Given the description of an element on the screen output the (x, y) to click on. 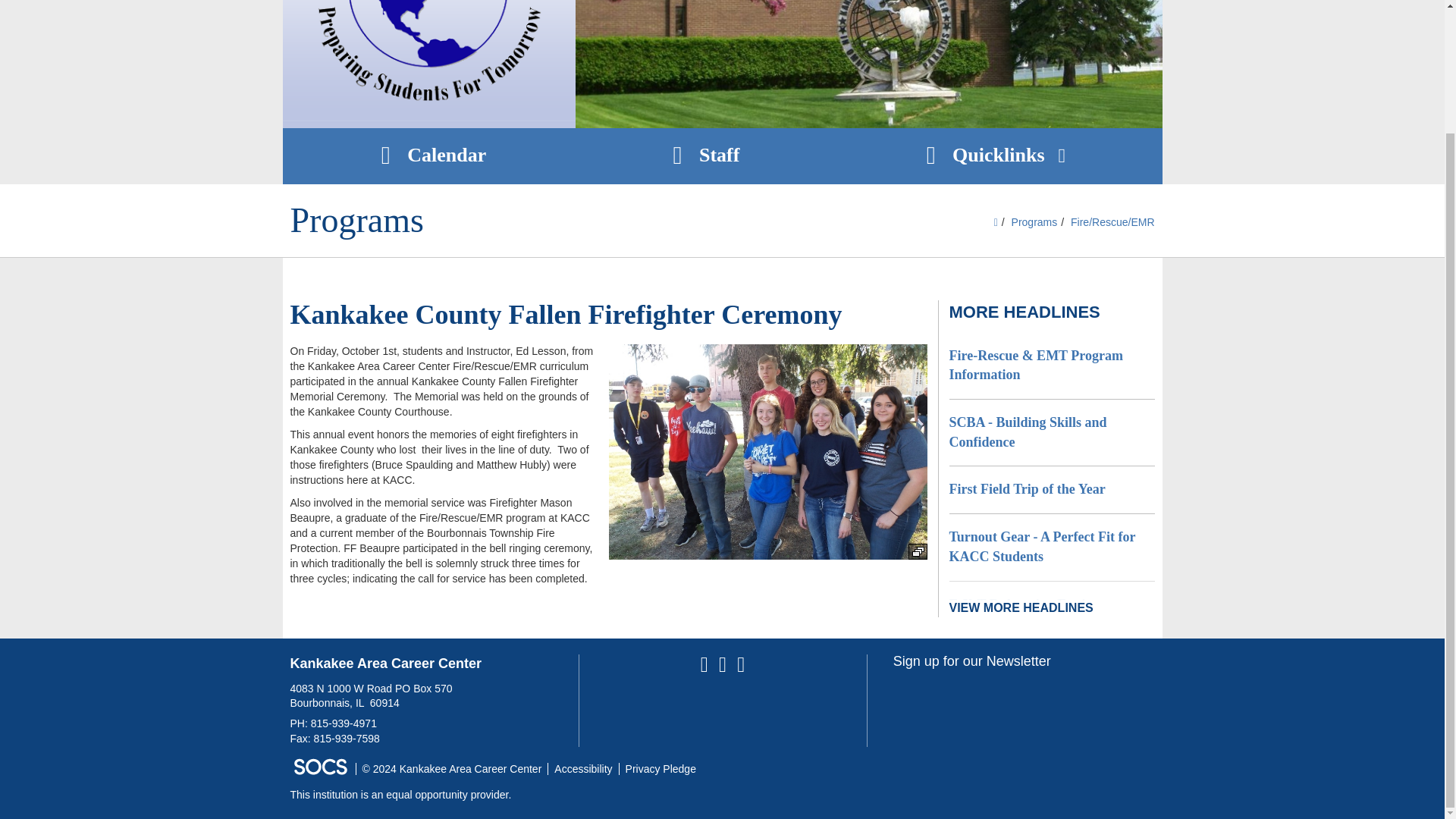
More images (917, 551)
Home (428, 63)
